Given the description of an element on the screen output the (x, y) to click on. 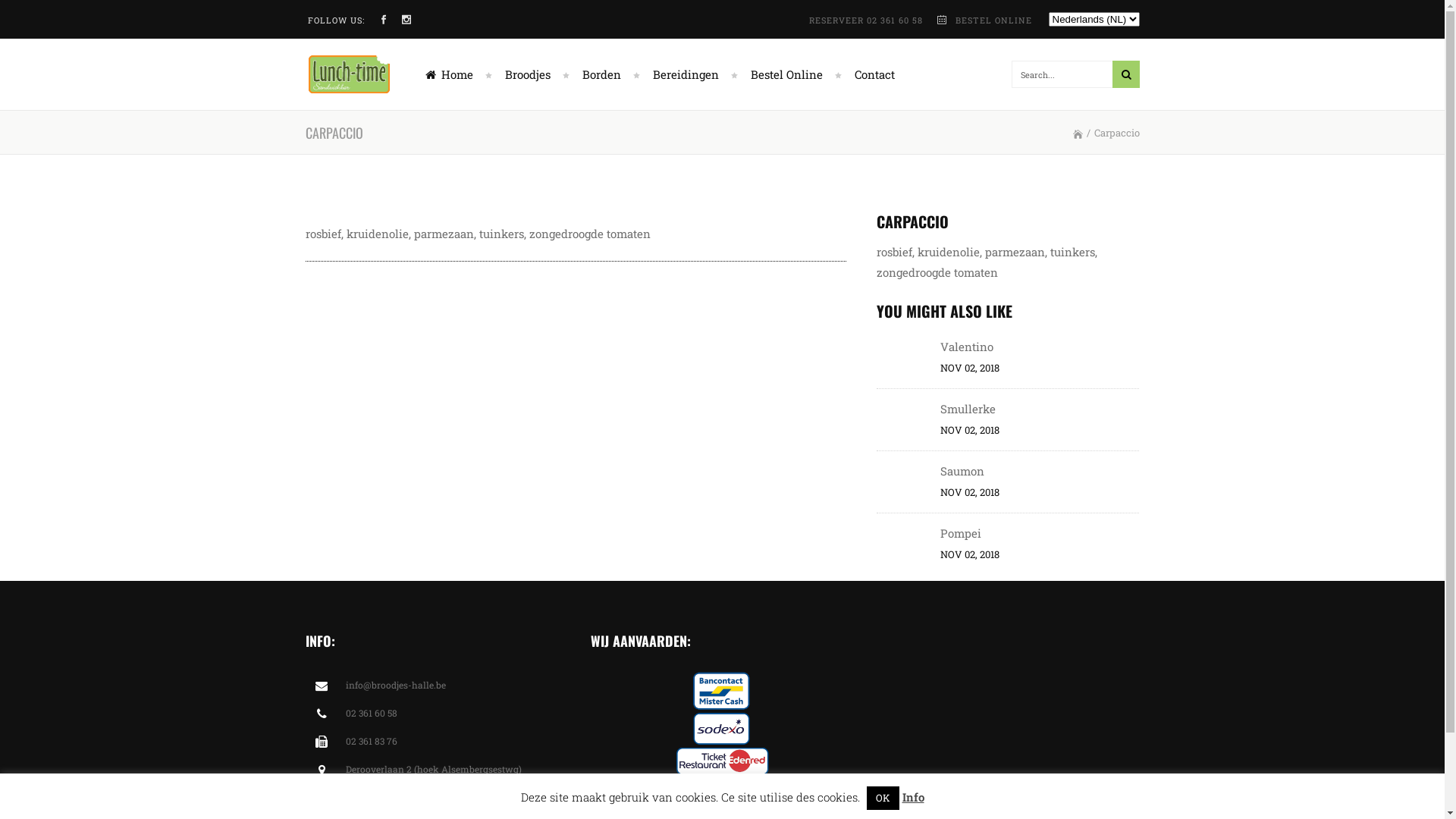
Pompei Element type: text (960, 532)
Valentino Element type: text (966, 346)
02 361 60 58 Element type: text (371, 712)
Smullerke Element type: text (967, 408)
BESTEL ONLINE Element type: text (993, 19)
02 361 83 76 Element type: text (371, 740)
OK Element type: text (882, 797)
Saumon Element type: text (962, 470)
Contact Element type: text (867, 73)
Broodjes Element type: text (530, 73)
info@broodjes-halle.be Element type: text (395, 684)
Home Element type: text (450, 73)
Bestel Online Element type: text (789, 73)
Info Element type: text (913, 796)
Bereidingen Element type: text (688, 73)
RESERVEER 02 361 60 58 Element type: text (866, 19)
Derooverlaan 2 (hoek Alsembergsestwg)
1501 Halle (Buizingen) Element type: text (433, 778)
Borden Element type: text (604, 73)
